Given the description of an element on the screen output the (x, y) to click on. 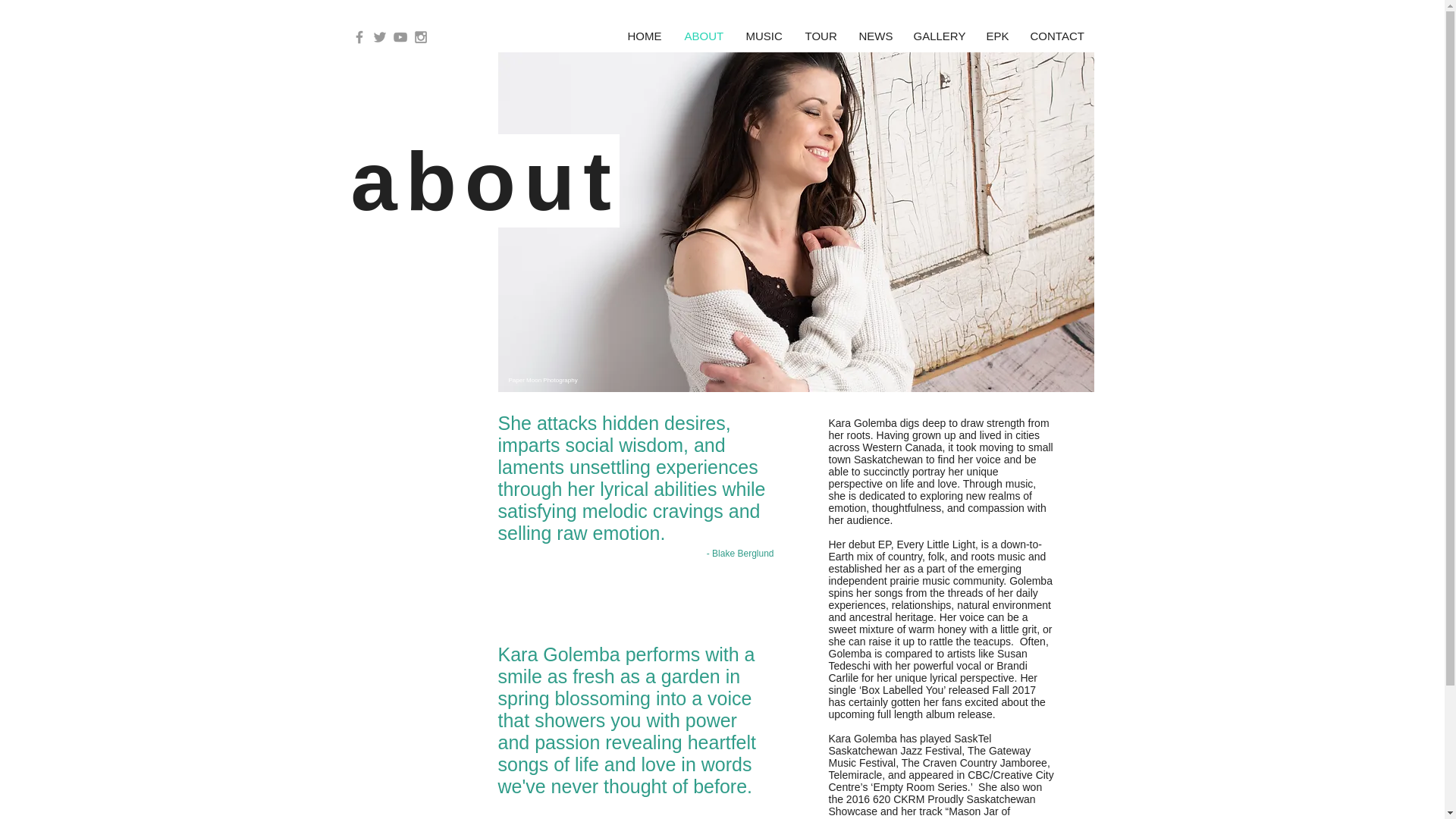
TOUR (820, 35)
ABOUT (703, 35)
GALLERY (938, 35)
NEWS (874, 35)
HOME (643, 35)
CONTACT (1056, 35)
MUSIC (763, 35)
EPK (997, 35)
